Given the description of an element on the screen output the (x, y) to click on. 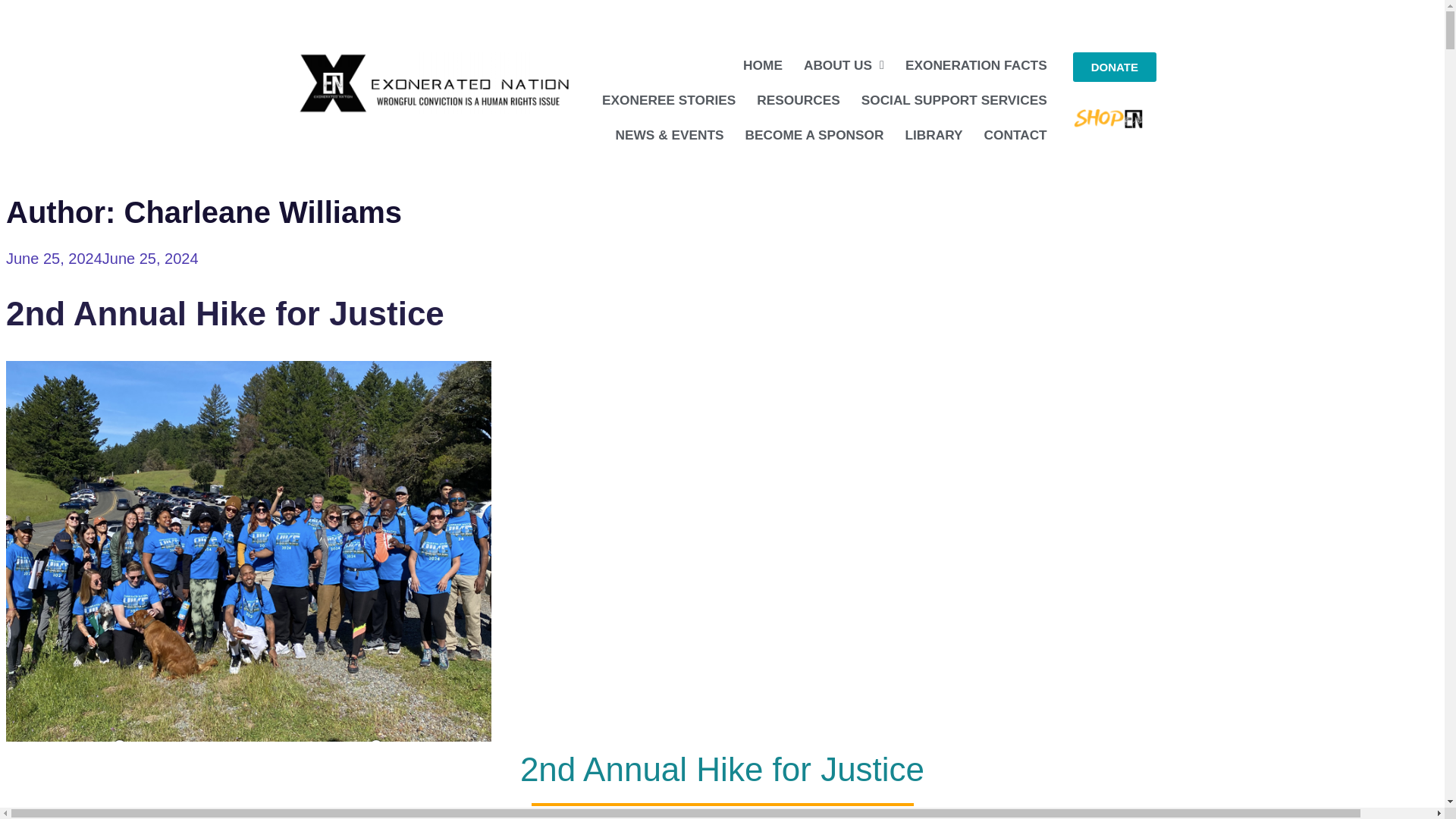
ABOUT US (844, 64)
HOME (762, 64)
EXONEREE STORIES (668, 99)
header-logo-2 (433, 82)
CONTACT (1016, 134)
RESOURCES (797, 99)
2nd Annual Hike for Justice (224, 313)
LIBRARY (932, 134)
BECOME A SPONSOR (815, 134)
June 25, 2024June 25, 2024 (101, 258)
SOCIAL SUPPORT SERVICES (954, 99)
EXONERATION FACTS (976, 64)
DONATE (1114, 66)
